Given the description of an element on the screen output the (x, y) to click on. 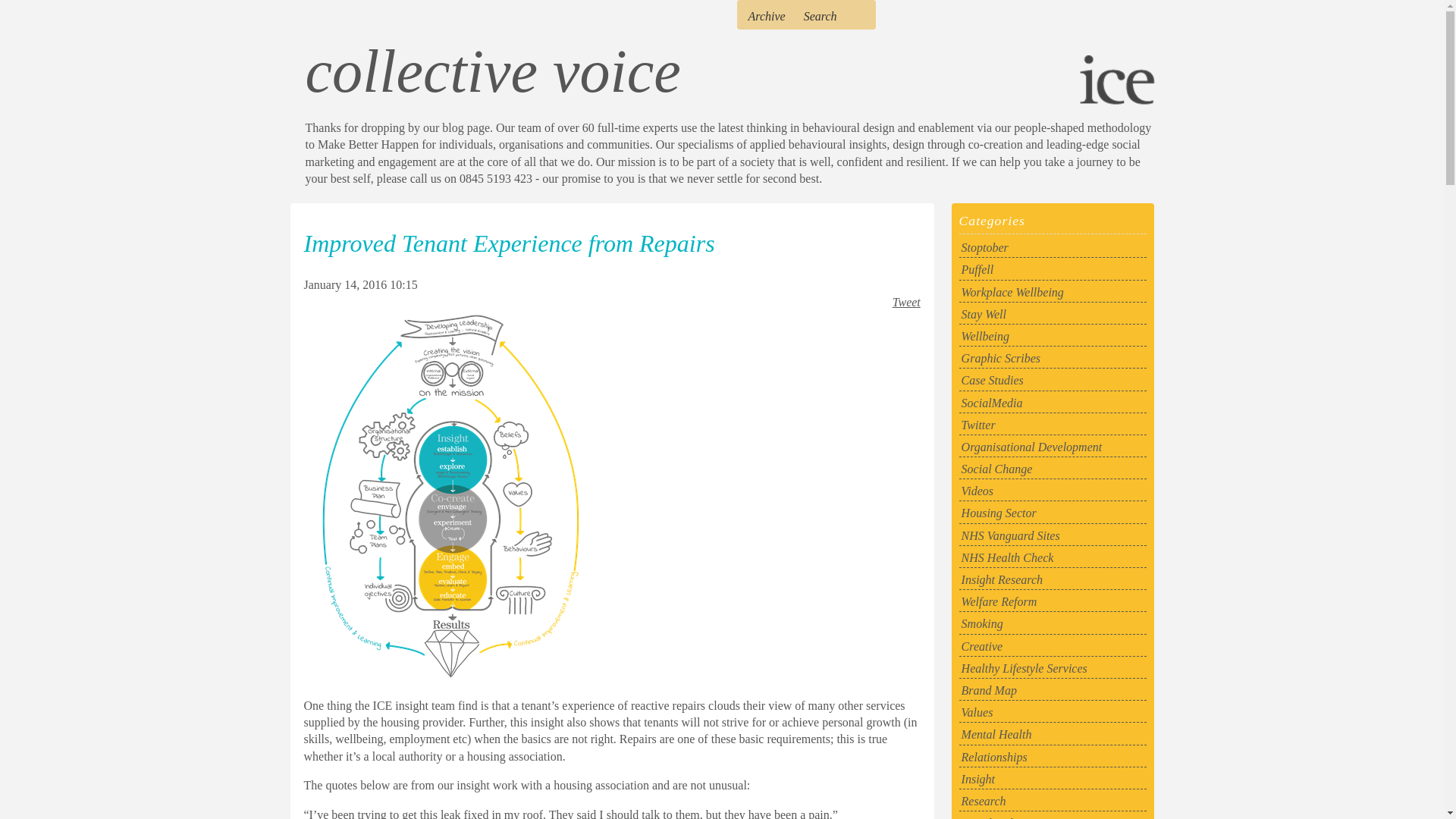
Search (820, 15)
collective voice (491, 70)
Category: ASP.Net (1053, 357)
Archive (767, 15)
Category: ASP.Net (1053, 446)
Tweet (906, 301)
Stay Well (1053, 313)
Wellbeing (1053, 335)
Category: ASP.Net (1053, 424)
Workplace Wellbeing (1053, 292)
